Given the description of an element on the screen output the (x, y) to click on. 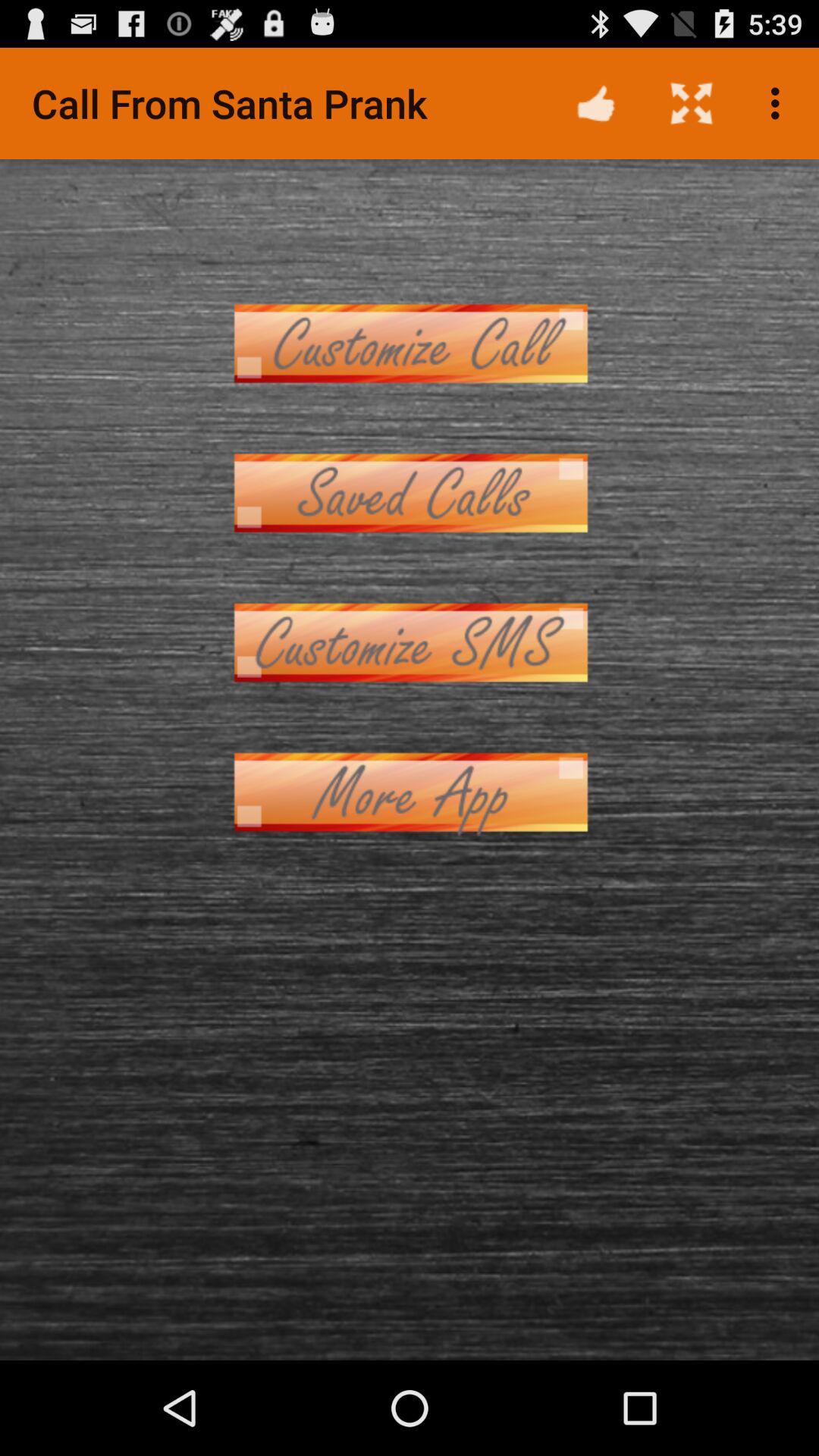
open the app next to call from santa item (595, 103)
